Given the description of an element on the screen output the (x, y) to click on. 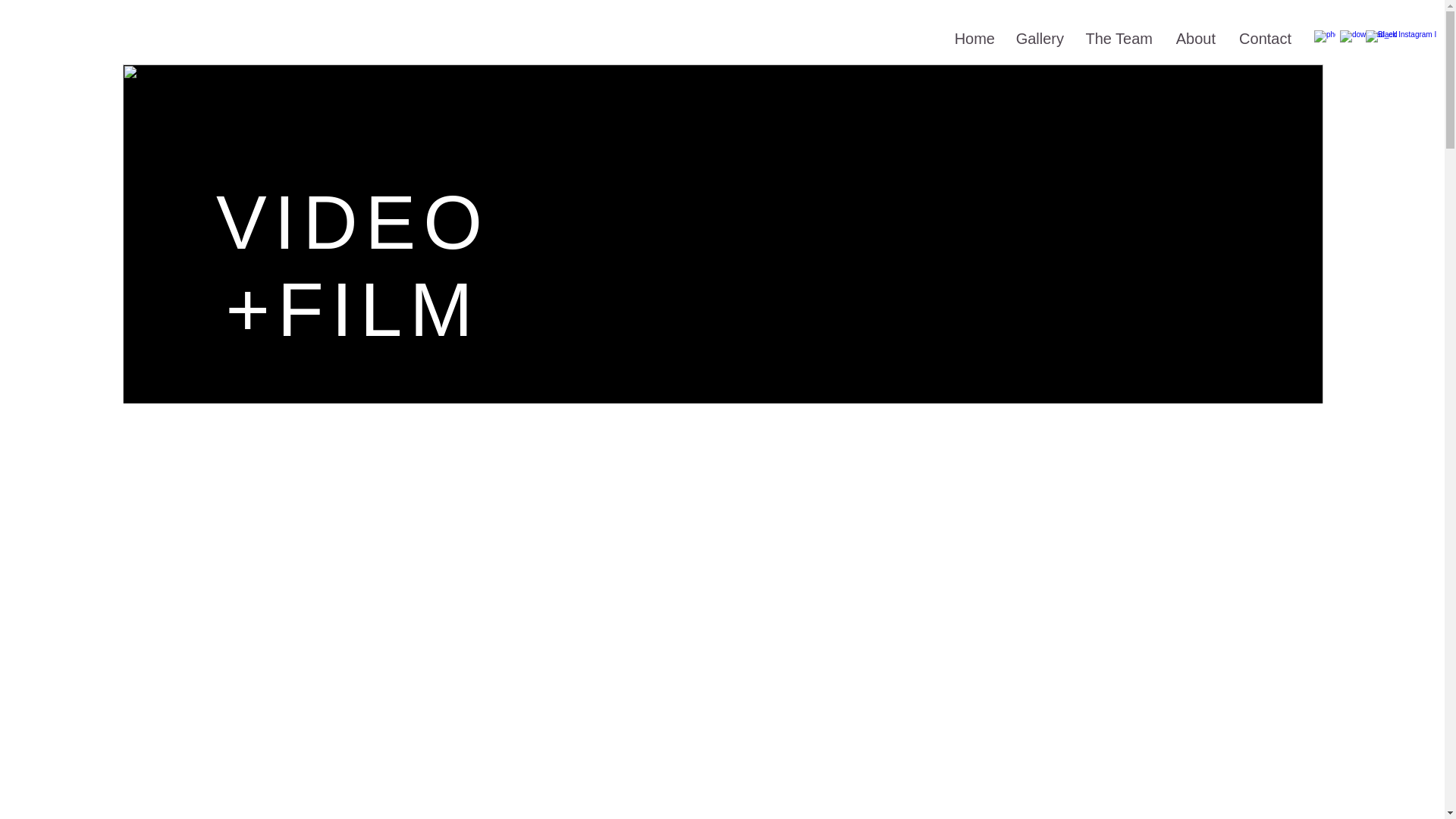
The Team (1117, 38)
Home (973, 38)
Contact (1263, 38)
About (1193, 38)
